Given the description of an element on the screen output the (x, y) to click on. 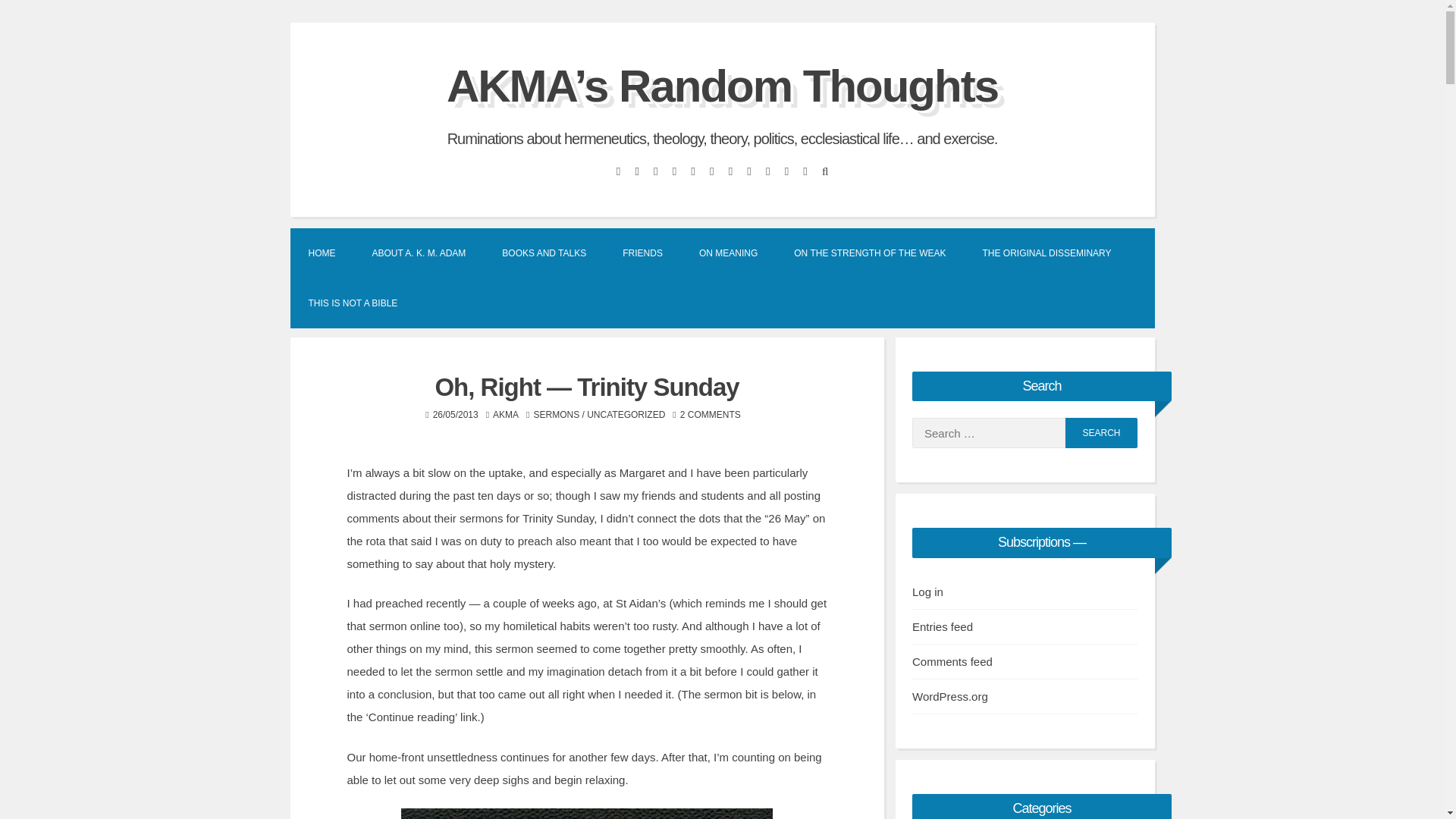
ABOUT A. K. M. ADAM (418, 252)
BOOKS AND TALKS (543, 252)
FRIENDS (642, 252)
SERMONS (556, 414)
2 COMMENTS (710, 414)
THIS IS NOT A BIBLE (351, 302)
Search (1101, 432)
ON MEANING (728, 252)
AKMA (505, 414)
ON THE STRENGTH OF THE WEAK (869, 252)
HOME (321, 252)
THE ORIGINAL DISSEMINARY (1046, 252)
UNCATEGORIZED (625, 414)
Search (1101, 432)
